Given the description of an element on the screen output the (x, y) to click on. 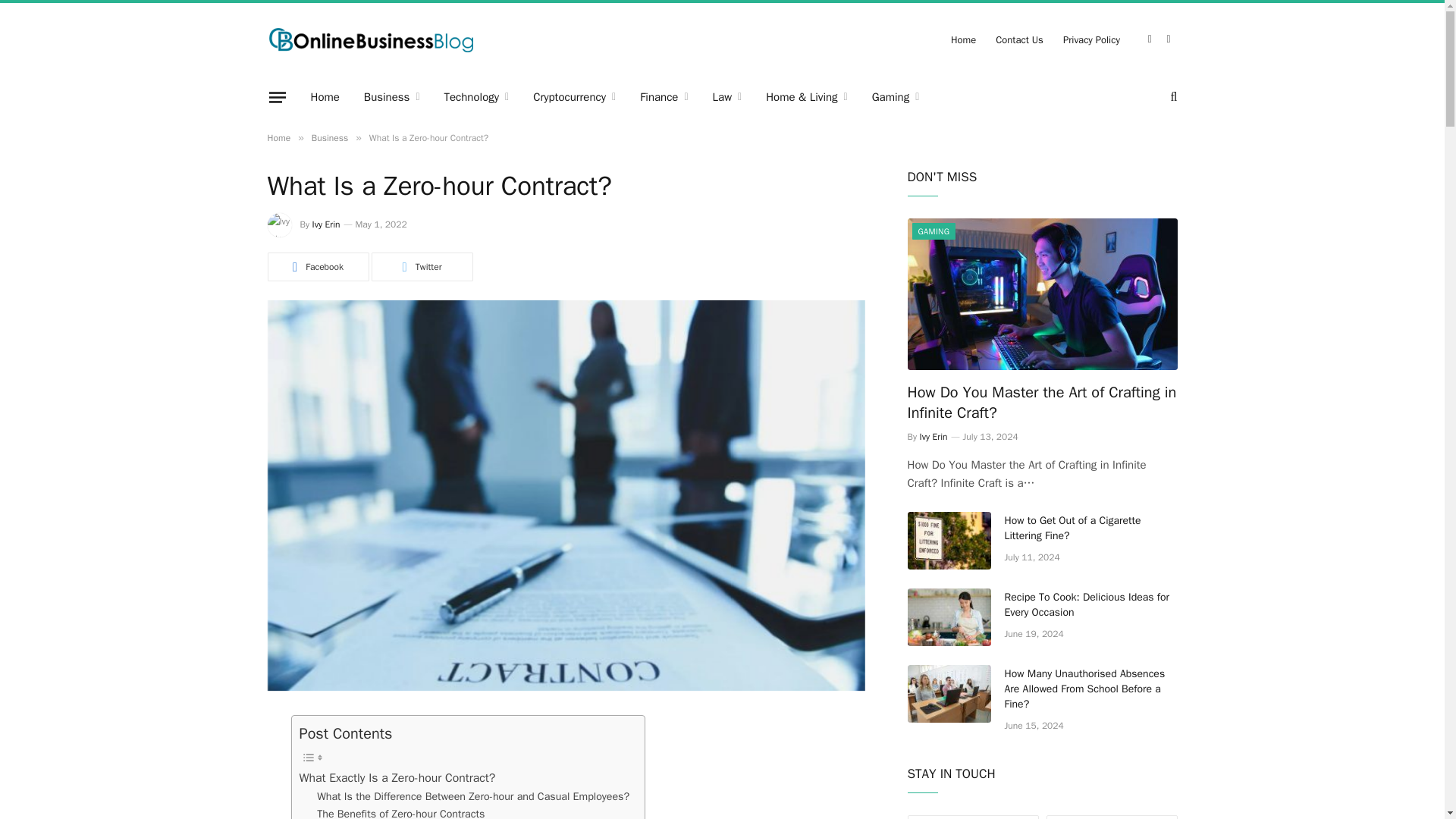
Home (325, 96)
Online Business Blog (369, 39)
Privacy Policy (1090, 39)
Business (392, 96)
Contact Us (1018, 39)
